Given the description of an element on the screen output the (x, y) to click on. 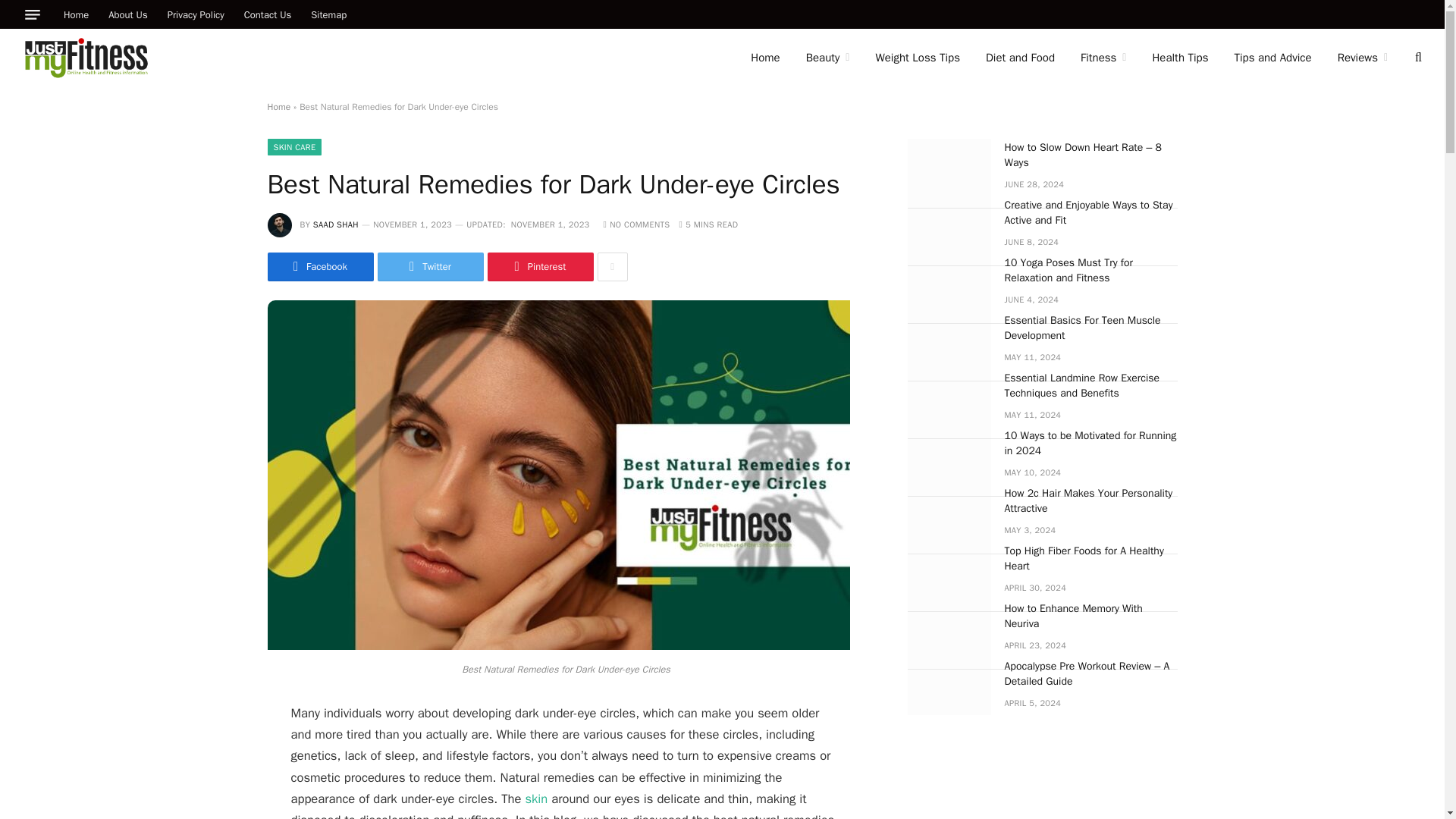
Diet and Food (1019, 57)
Contact Us (267, 14)
Show More Social Sharing (611, 266)
Fitness (1102, 57)
Health Tips (1179, 57)
Tips and Advice (1272, 57)
Posts by Saad Shah (335, 224)
About Us (128, 14)
Beauty (828, 57)
Sitemap (328, 14)
Home (765, 57)
Reviews (1362, 57)
Home (277, 106)
Weight Loss Tips (916, 57)
Home (76, 14)
